Given the description of an element on the screen output the (x, y) to click on. 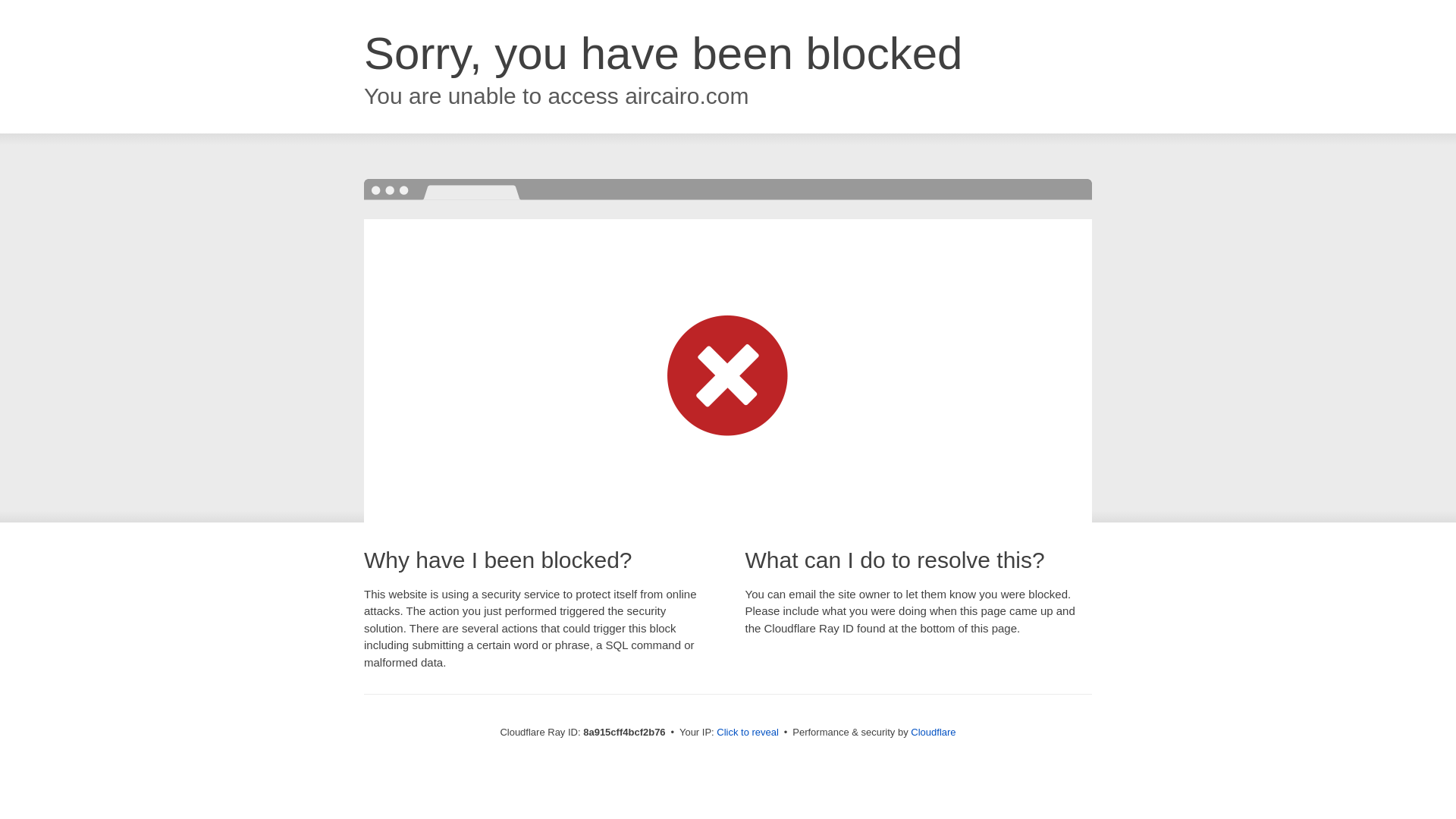
Click to reveal (747, 732)
Cloudflare (933, 731)
